Given the description of an element on the screen output the (x, y) to click on. 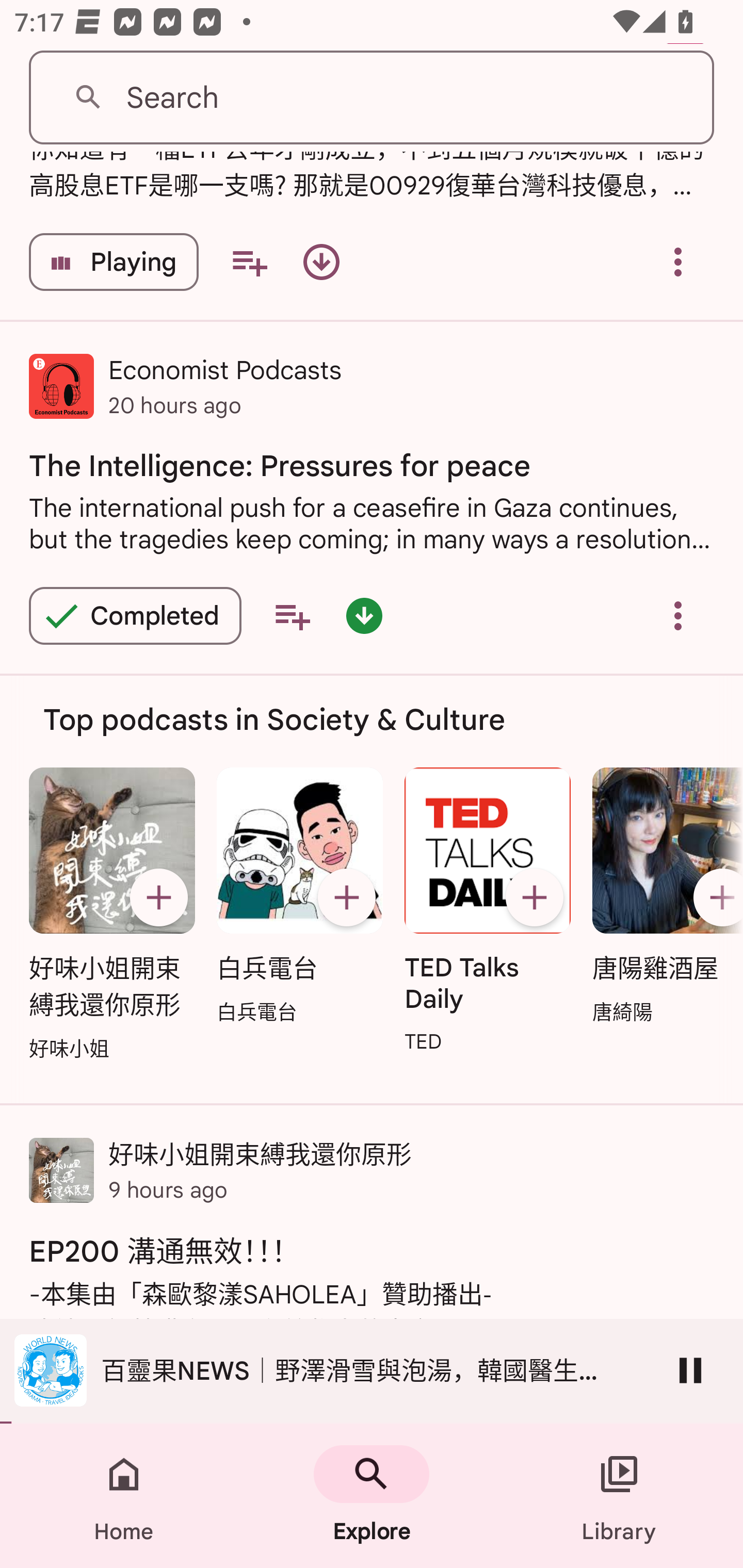
Search (371, 97)
Add to your queue (249, 261)
Download episode (321, 261)
Overflow menu (677, 261)
Add to your queue (291, 615)
Episode downloaded - double tap for options (364, 615)
Overflow menu (677, 615)
好味小姐開束縛我還你原形 Subscribe 好味小姐開束縛我還你原形 好味小姐 (111, 915)
白兵電台 Subscribe 白兵電台 白兵電台 (299, 897)
TED Talks Daily Subscribe TED Talks Daily TED (487, 912)
唐陽雞酒屋 Subscribe 唐陽雞酒屋 唐綺陽 (662, 897)
Subscribe (158, 896)
Subscribe (346, 896)
Subscribe (534, 896)
Subscribe (714, 896)
Pause (690, 1370)
Home (123, 1495)
Library (619, 1495)
